Given the description of an element on the screen output the (x, y) to click on. 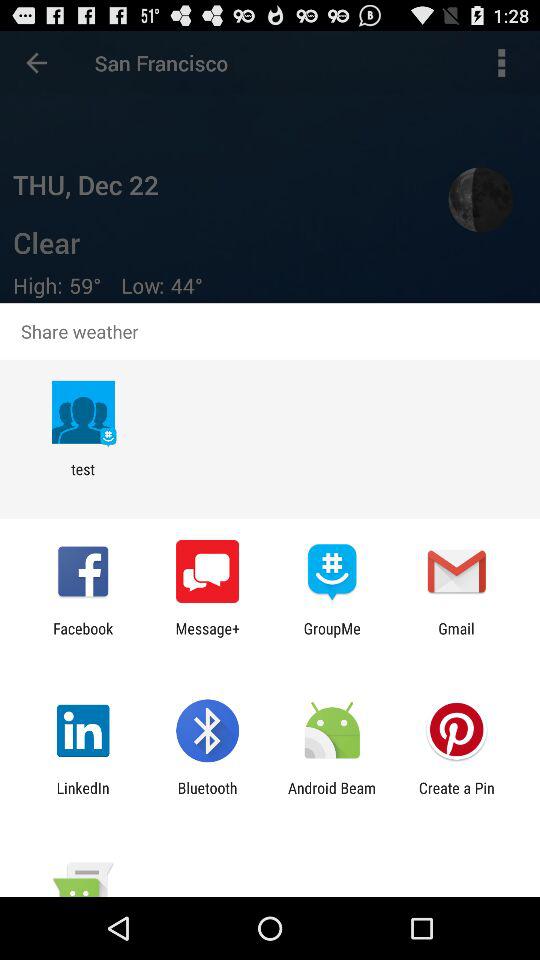
flip until the message+ icon (207, 637)
